Given the description of an element on the screen output the (x, y) to click on. 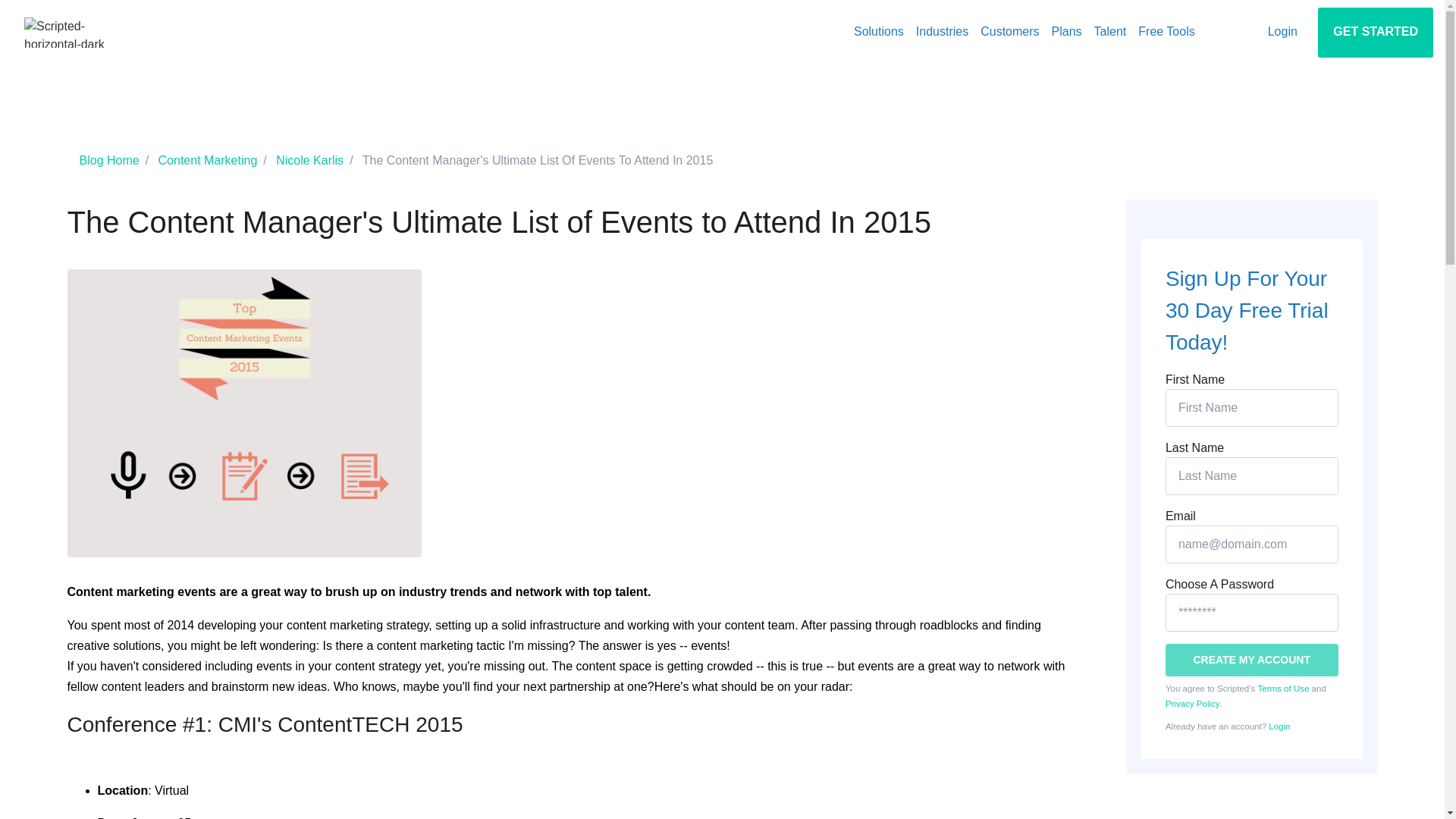
Talent (1109, 32)
Customers (1009, 32)
CREATE MY ACCOUNT (1252, 659)
GET STARTED (1374, 32)
Industries (942, 32)
Free Tools (1165, 32)
Solutions (878, 32)
